Given the description of an element on the screen output the (x, y) to click on. 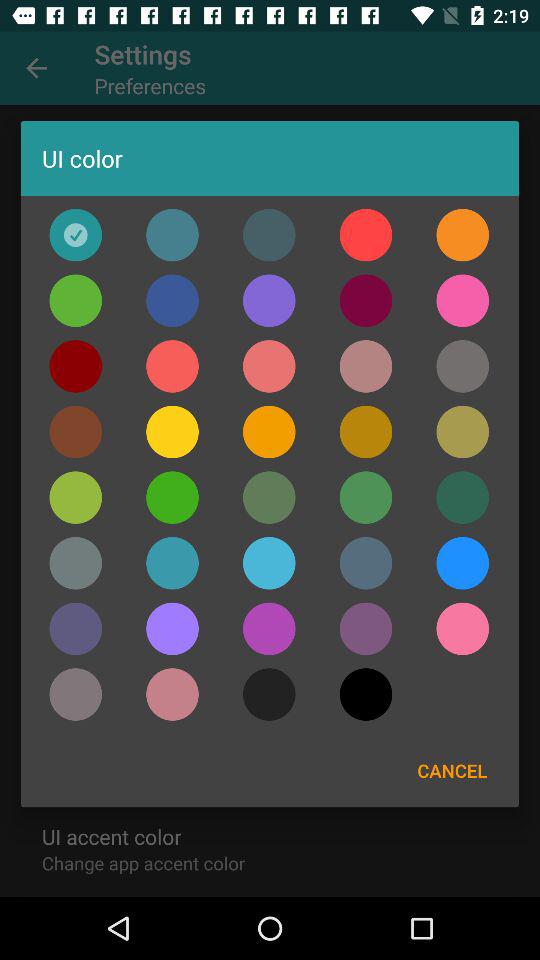
select color (75, 497)
